Given the description of an element on the screen output the (x, y) to click on. 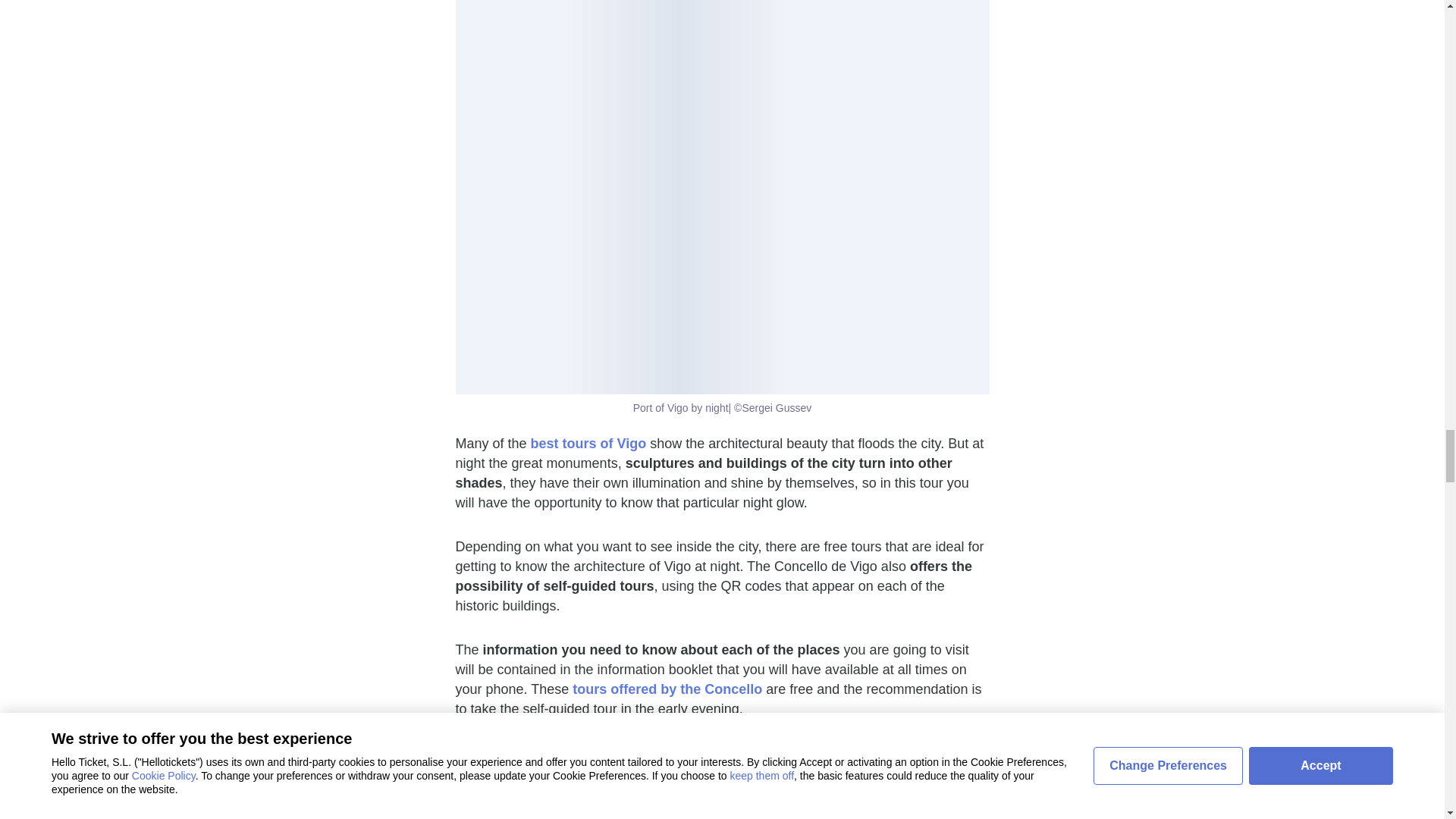
best tours of Vigo (588, 443)
tours offered by the Concello (666, 688)
